Given the description of an element on the screen output the (x, y) to click on. 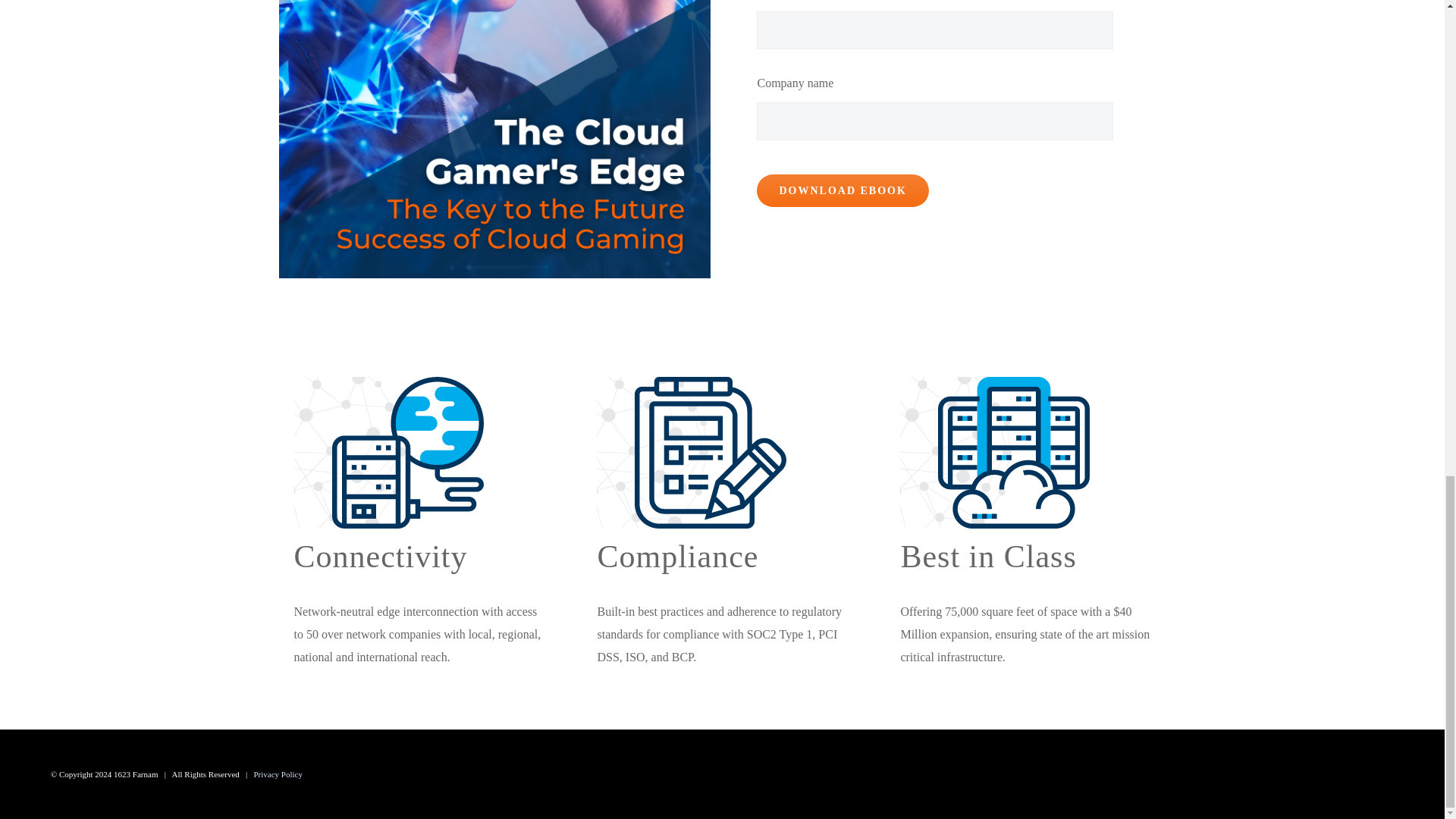
Download eBook (842, 190)
Privacy Policy (277, 773)
BestInClass-2 (1012, 452)
Compliance-2 (710, 452)
Download eBook (842, 190)
Connectivity-2 (407, 452)
